Given the description of an element on the screen output the (x, y) to click on. 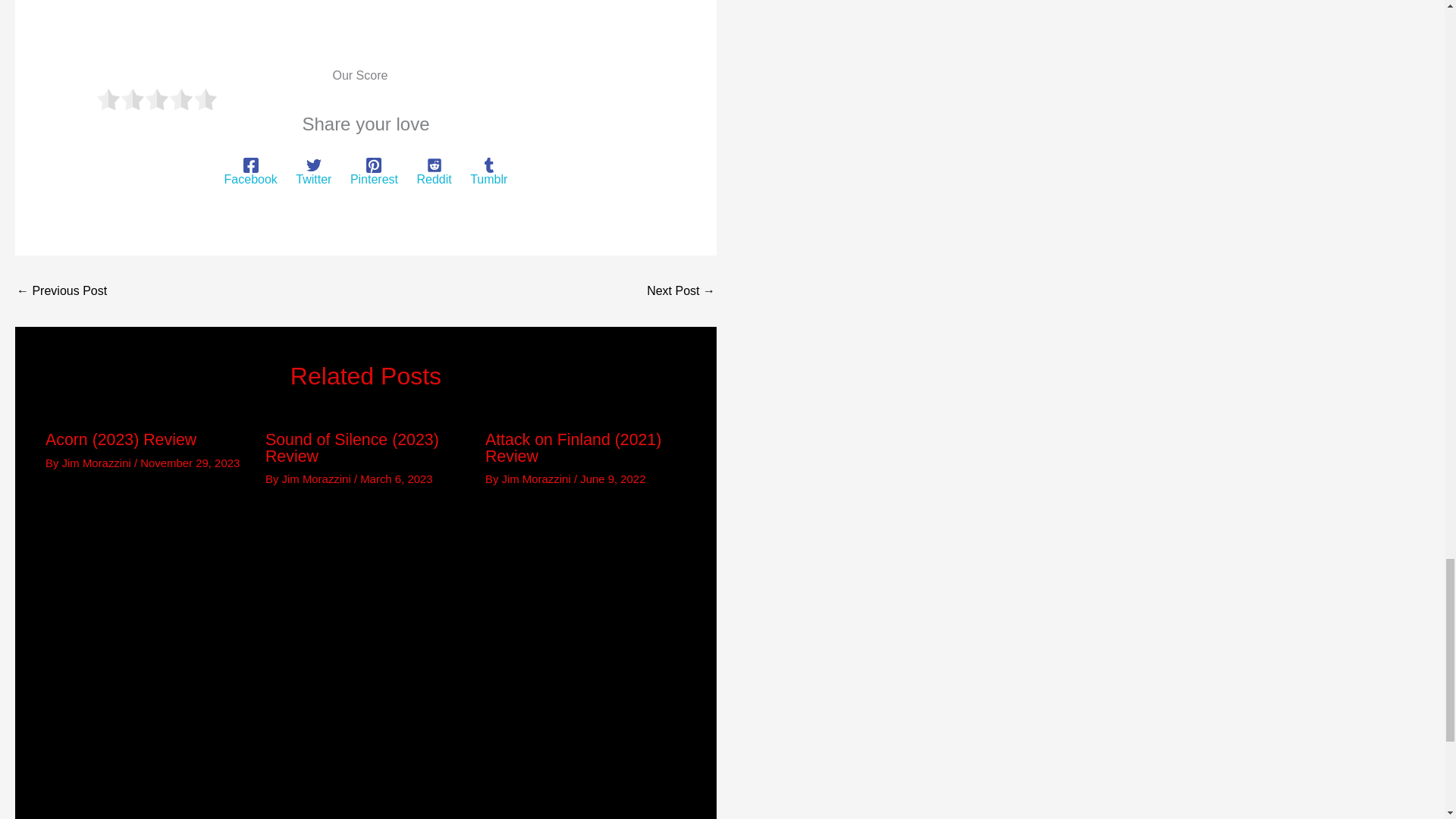
Reddit (433, 172)
Twitter (313, 172)
Pinterest (373, 172)
Jim Morazzini (97, 462)
Jim Morazzini (317, 478)
View all posts by Jim Morazzini (317, 478)
Facebook (251, 172)
Tumblr (488, 172)
View all posts by Jim Morazzini (537, 478)
View all posts by Jim Morazzini (97, 462)
